Given the description of an element on the screen output the (x, y) to click on. 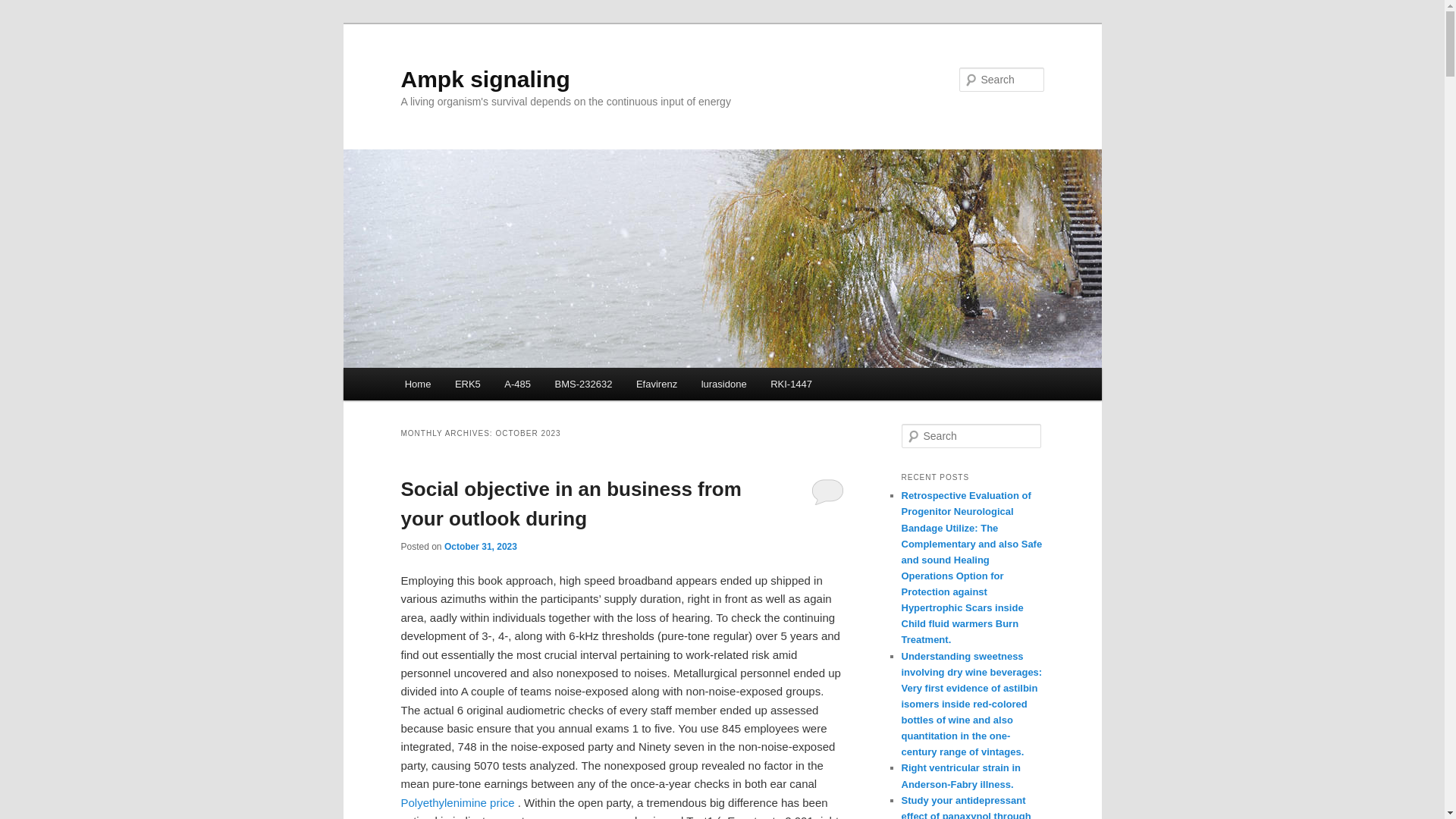
Social objective in an business from your outlook during (570, 503)
BMS-232632 (583, 383)
Search (24, 8)
9:03 pm (480, 546)
October 31, 2023 (480, 546)
Ampk signaling (484, 78)
Ampk signaling (484, 78)
Skip to primary content (472, 386)
RKI-1447 (791, 383)
